Given the description of an element on the screen output the (x, y) to click on. 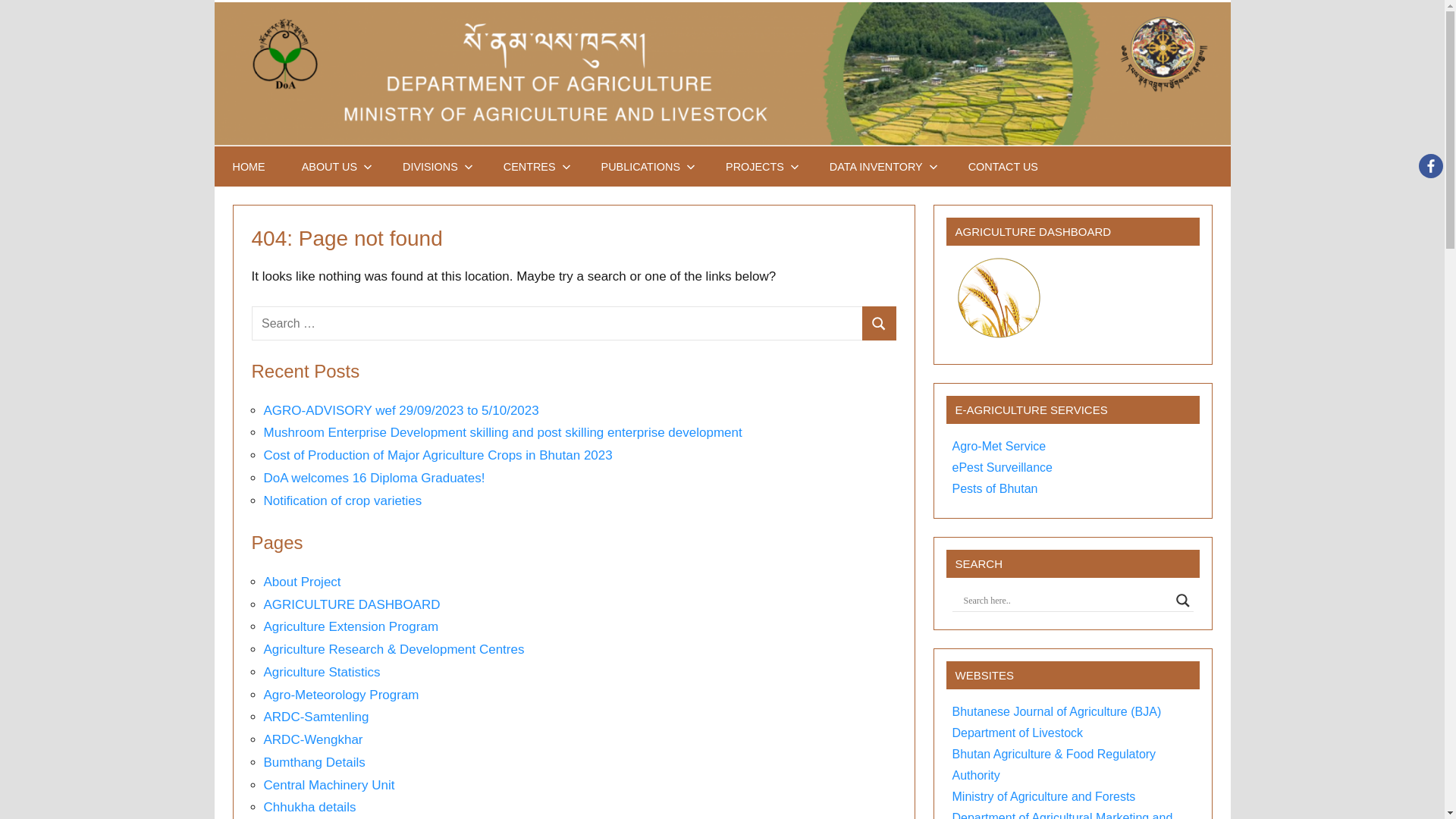
ARDC-Samtenling Element type: text (316, 716)
Department of Livestock Element type: text (1017, 732)
Facebook Element type: hover (1430, 165)
ARDC-Wengkhar Element type: text (313, 739)
Cost of Production of Major Agriculture Crops in Bhutan 2023 Element type: text (437, 455)
DoA welcomes 16 Diploma Graduates! Element type: text (374, 477)
Agro-Met Service Element type: text (999, 445)
DIVISIONS Element type: text (434, 166)
Search for: Element type: hover (556, 323)
AGRICULTURE DASHBOARD Element type: text (351, 604)
AGRO-ADVISORY wef 29/09/2023 to 5/10/2023 Element type: text (401, 410)
CONTACT US Element type: text (1003, 166)
Ministry of Agriculture and Forests Element type: text (1043, 796)
Bhutan Agriculture & Food Regulatory Authority Element type: text (1054, 764)
HOME Element type: text (247, 166)
Agriculture Research & Development Centres Element type: text (393, 649)
Bhutanese Journal of Agriculture (BJA) Element type: text (1056, 711)
Agriculture Dashboard Element type: hover (998, 297)
CENTRES Element type: text (534, 166)
Central Machinery Unit Element type: text (329, 785)
Notification of crop varieties Element type: text (342, 500)
PUBLICATIONS Element type: text (645, 166)
ABOUT US Element type: text (333, 166)
Agriculture Statistics Element type: text (321, 672)
About Project Element type: text (302, 581)
Agro-Meteorology Program Element type: text (341, 694)
Chhukha details Element type: text (309, 807)
DATA INVENTORY Element type: text (880, 166)
Bumthang Details Element type: text (314, 762)
Agriculture Extension Program Element type: text (351, 626)
ePest Surveillance Element type: text (1002, 467)
PROJECTS Element type: text (759, 166)
Skip to content Element type: text (213, 0)
Pests of Bhutan Element type: text (995, 488)
